Given the description of an element on the screen output the (x, y) to click on. 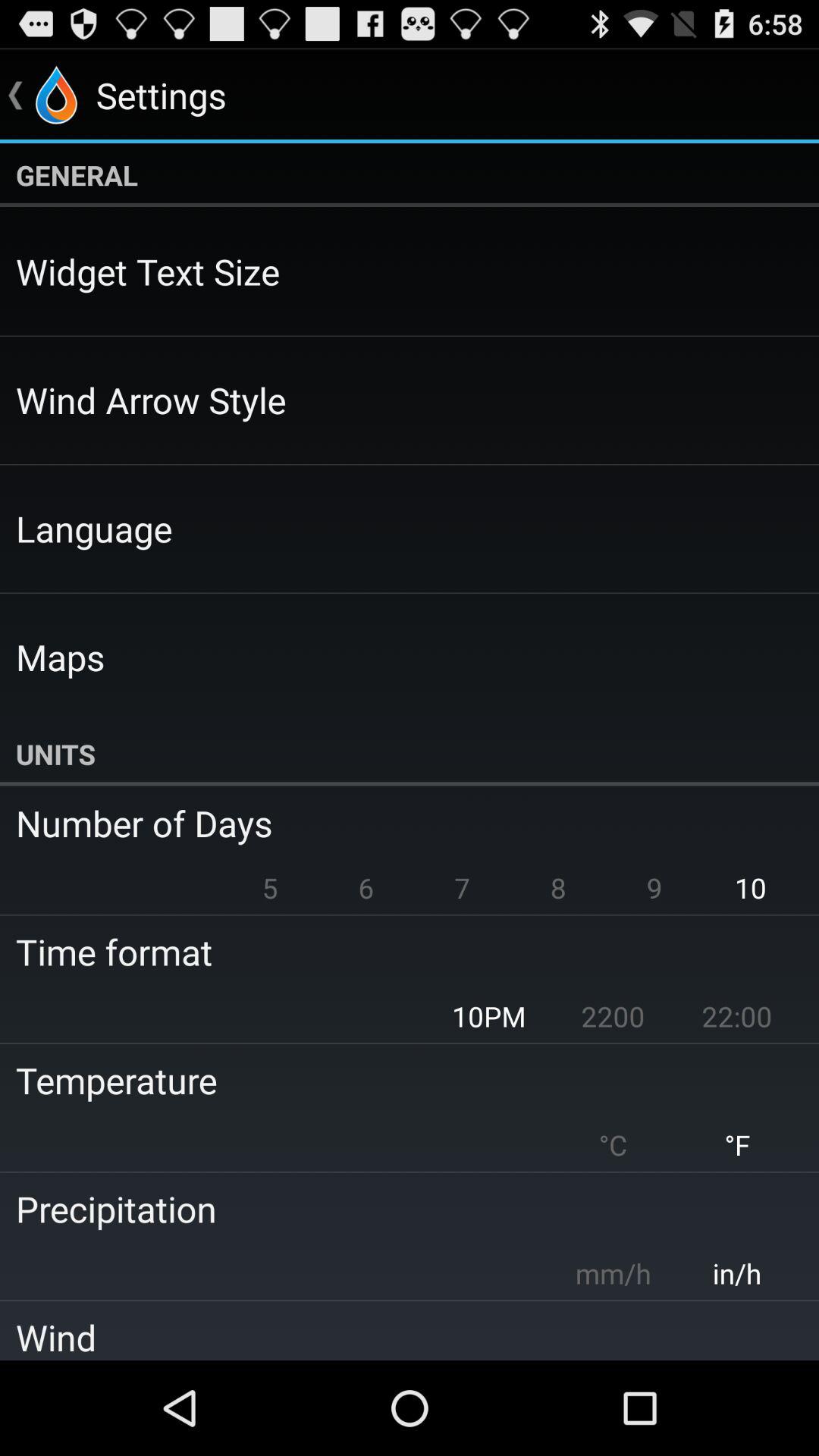
select item below the maps (409, 754)
